Given the description of an element on the screen output the (x, y) to click on. 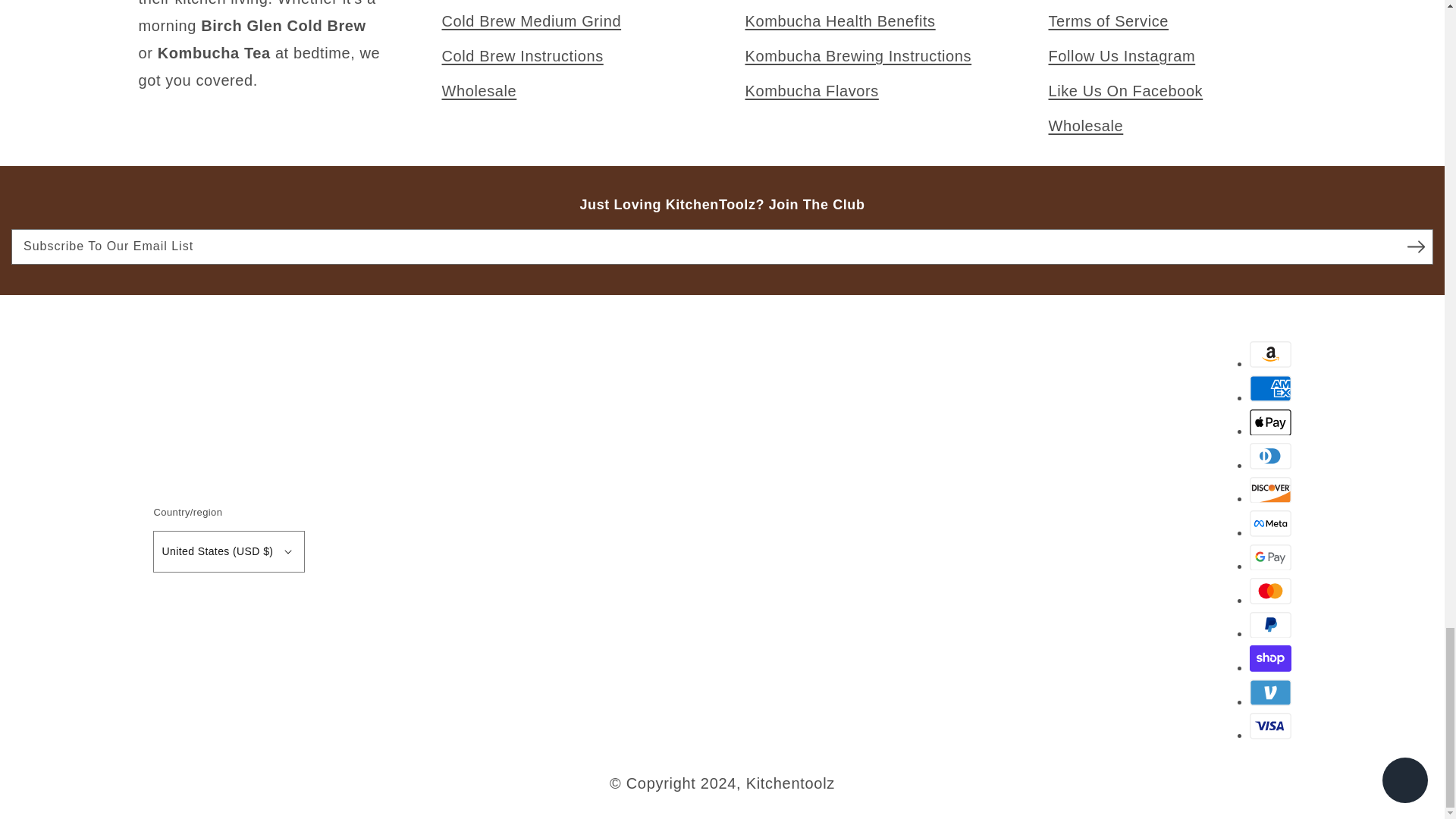
Google Pay (1270, 557)
American Express (1270, 388)
Mastercard (1270, 591)
PayPal (1270, 624)
Discover (1270, 489)
Shop Pay (1270, 658)
Apple Pay (1270, 422)
Meta Pay (1270, 523)
Diners Club (1270, 456)
Venmo (1270, 692)
